Given the description of an element on the screen output the (x, y) to click on. 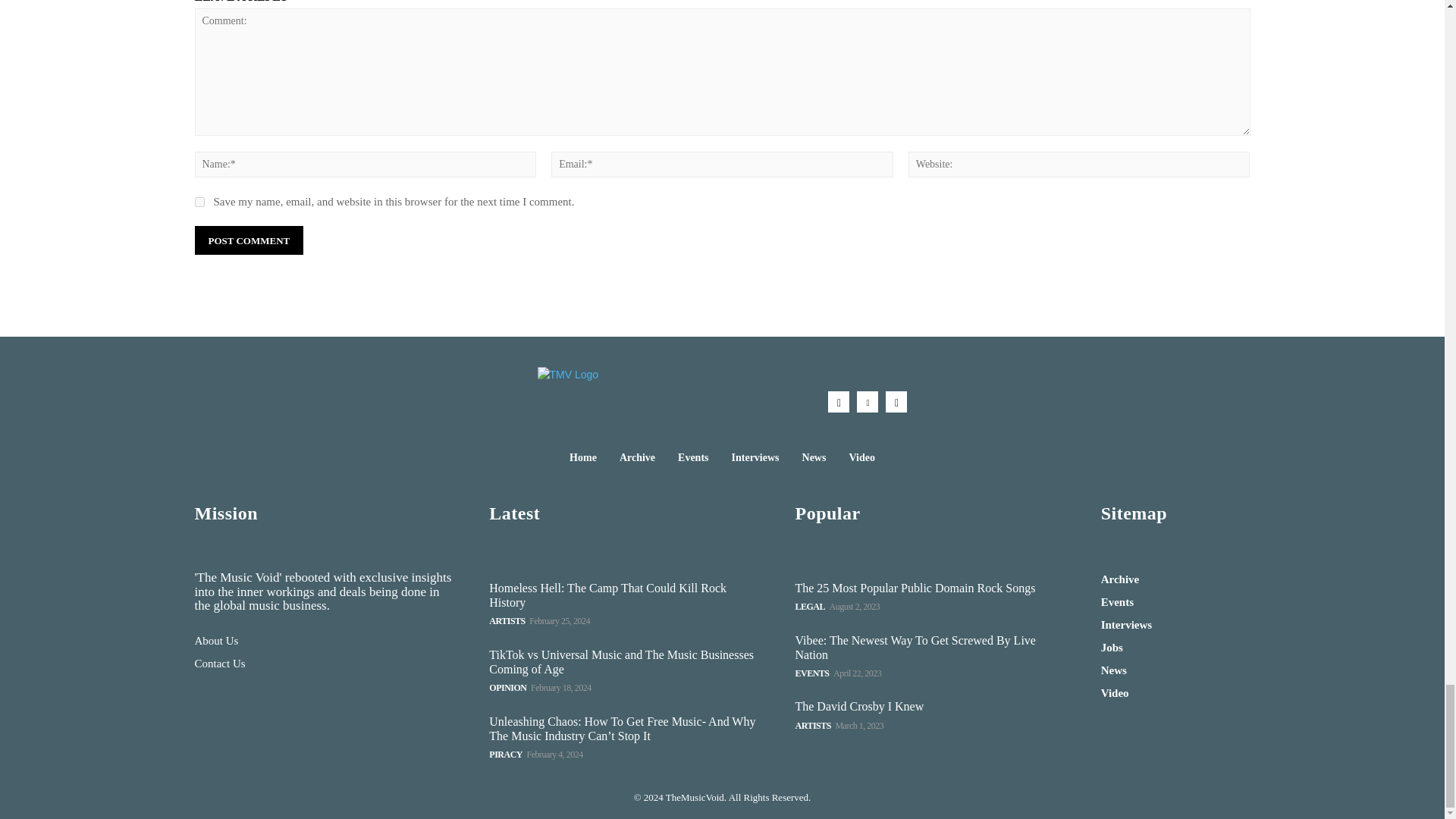
Post Comment (247, 240)
yes (198, 202)
